Given the description of an element on the screen output the (x, y) to click on. 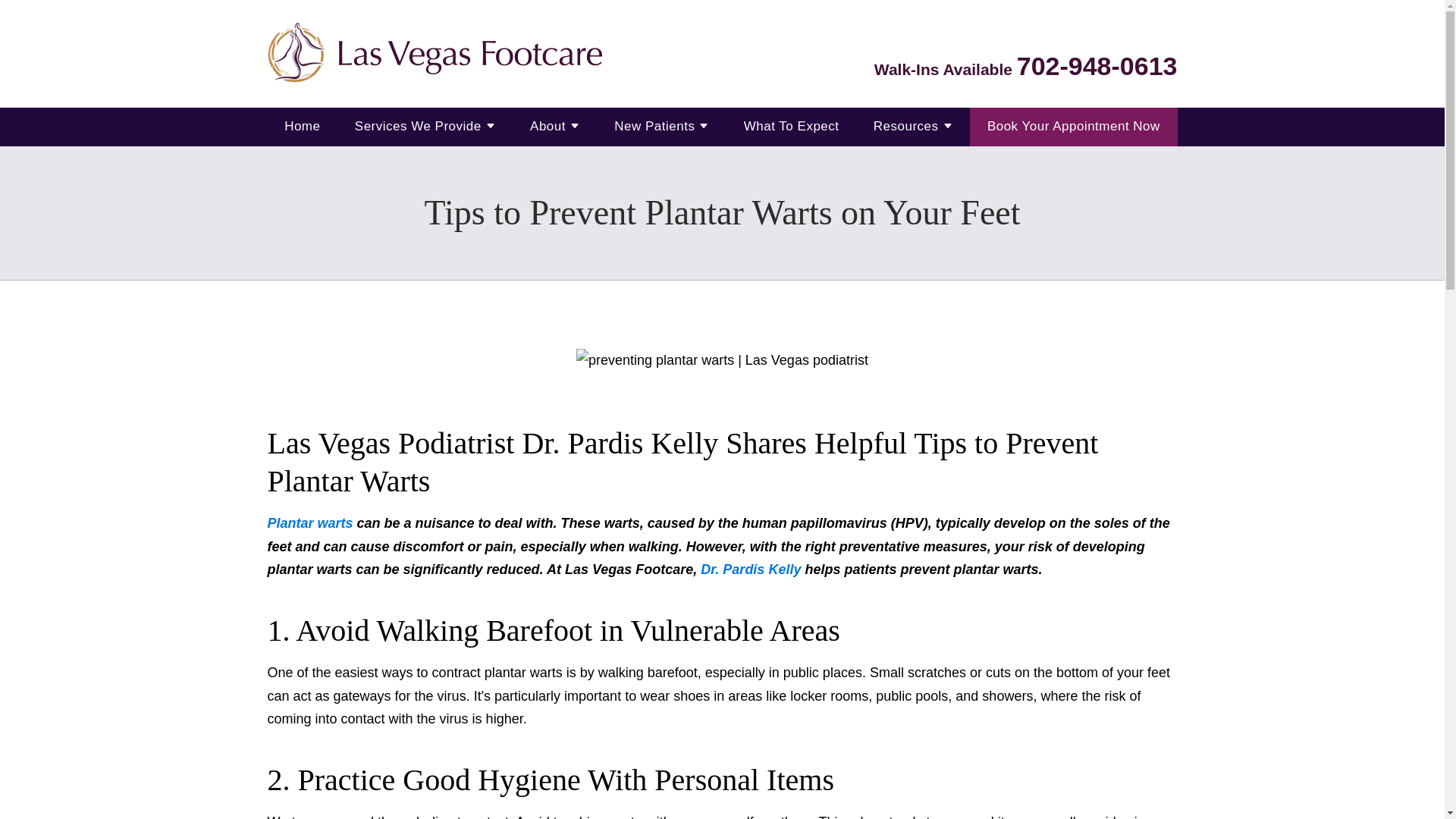
About (547, 126)
702-948-0613 (1096, 65)
Dr. Pardis Kelly (750, 569)
call local (1096, 65)
Book Your Appointment Now (1073, 126)
What To Expect (792, 126)
New Patients (654, 126)
Home (301, 126)
Plantar warts (309, 522)
Services We Provide (418, 126)
Resources (906, 126)
